Given the description of an element on the screen output the (x, y) to click on. 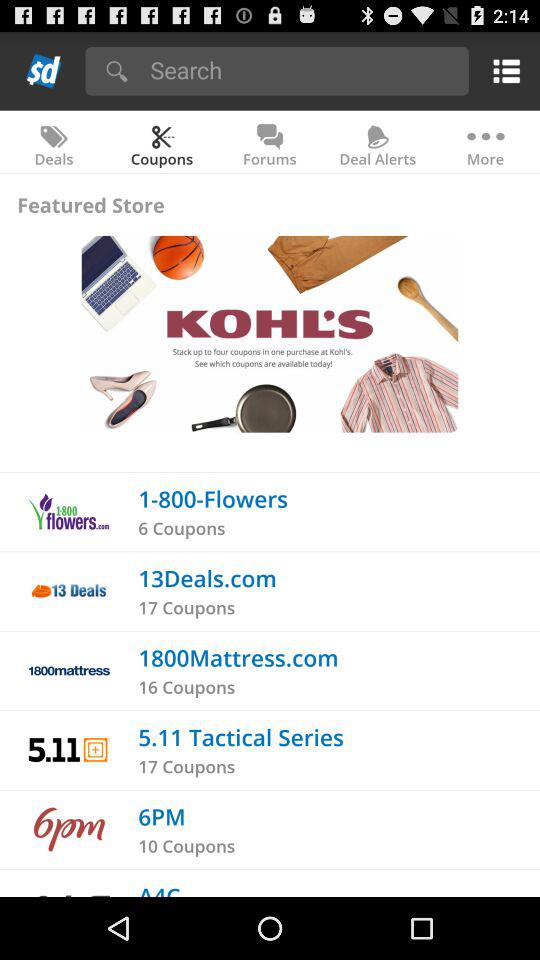
launch item below 1-800-flowers app (181, 527)
